Given the description of an element on the screen output the (x, y) to click on. 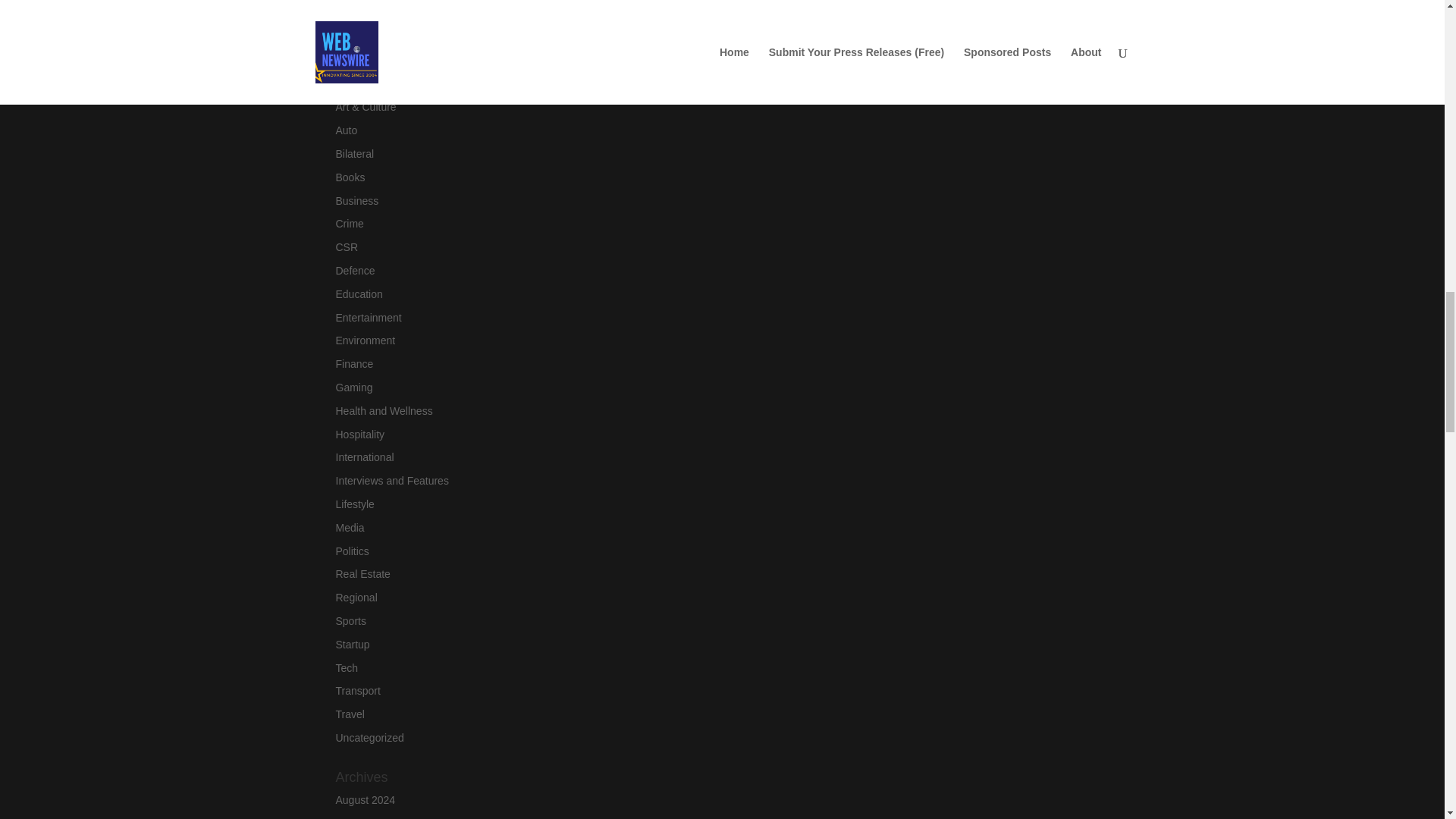
Auto (345, 130)
July 2024 (357, 818)
Agriculture (359, 83)
Interviews and Features (391, 480)
Politics (351, 551)
Search (458, 16)
Regional (355, 597)
Bilateral (354, 153)
Business (356, 200)
Gaming (353, 387)
Travel (349, 714)
Search (458, 16)
Defence (354, 270)
Sports (349, 621)
Media (349, 527)
